Given the description of an element on the screen output the (x, y) to click on. 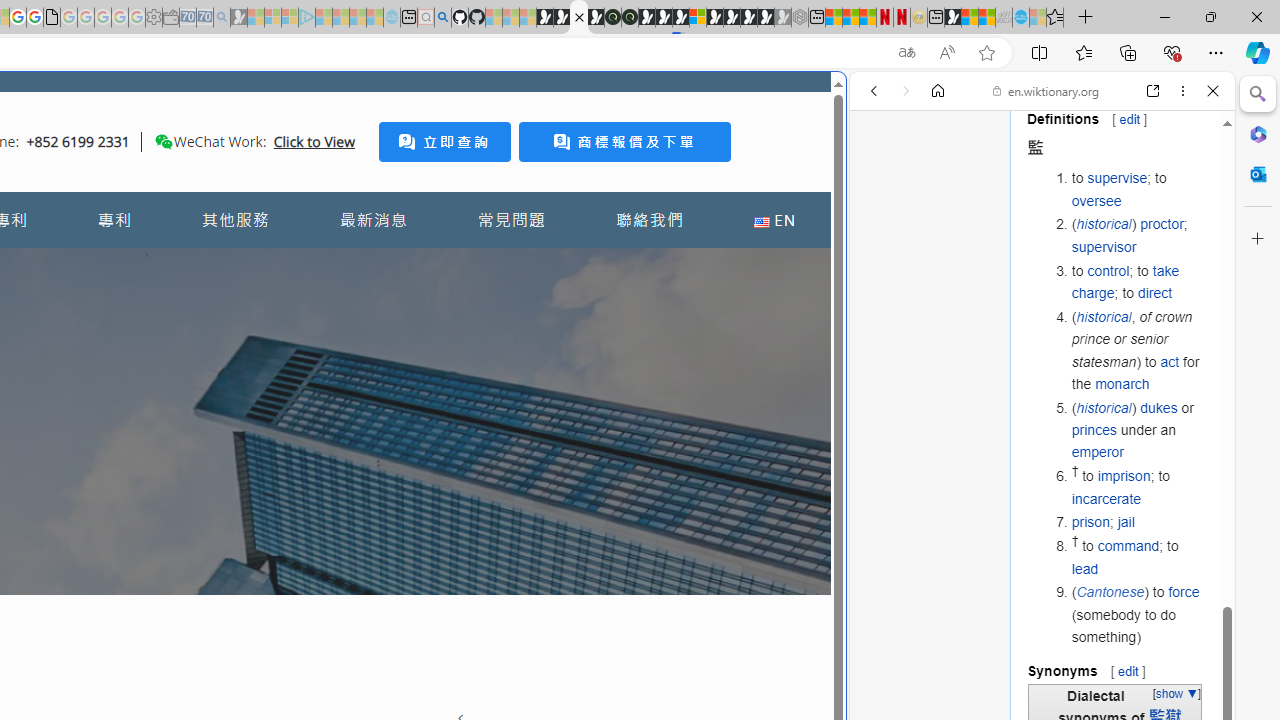
(Cantonese) to force(somebody to do something) (1137, 614)
prison; jail (1137, 522)
edit (1128, 670)
Sign in to your account (697, 17)
direct (1154, 291)
to control; to take charge; to direct (1137, 282)
force (1183, 592)
